Given the description of an element on the screen output the (x, y) to click on. 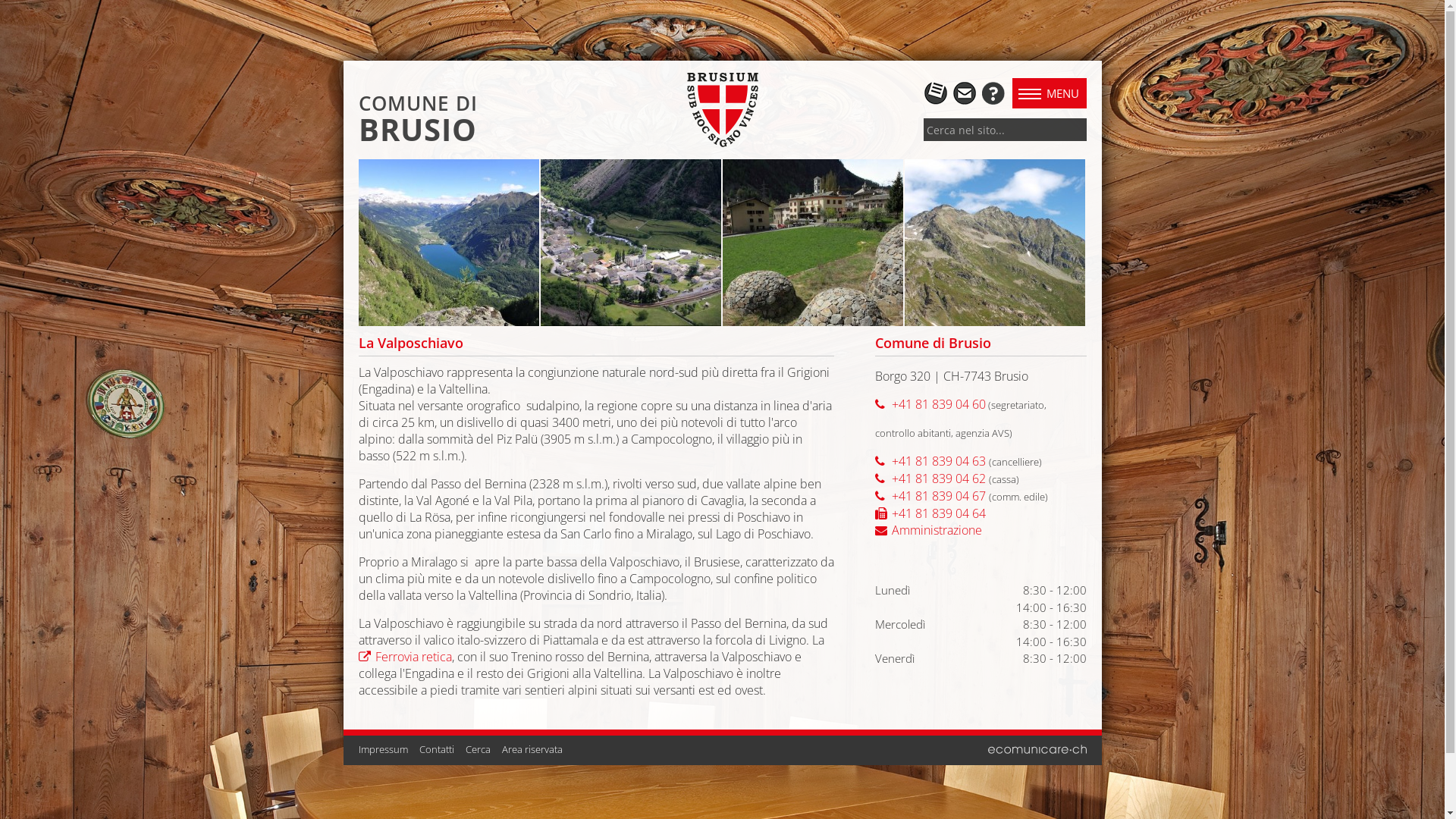
Numeri utili Element type: hover (935, 91)
+41 81 839 04 62 Element type: text (930, 478)
Impressum Element type: text (382, 748)
Area riservata Element type: text (532, 748)
+41 81 839 04 67 Element type: text (930, 495)
MENU Element type: text (1048, 93)
Ferrovia retica Element type: text (404, 656)
Cerca Element type: text (477, 748)
Amministrazione Element type: text (928, 529)
+41 81 839 04 63 Element type: text (930, 460)
+41 81 839 04 60 Element type: text (930, 403)
A chi mi rivolgo Element type: hover (991, 91)
+41 81 839 04 64 Element type: text (930, 513)
BRUSIO Element type: text (416, 133)
Contatti Element type: text (435, 748)
COMUNE DI Element type: text (416, 103)
